Given the description of an element on the screen output the (x, y) to click on. 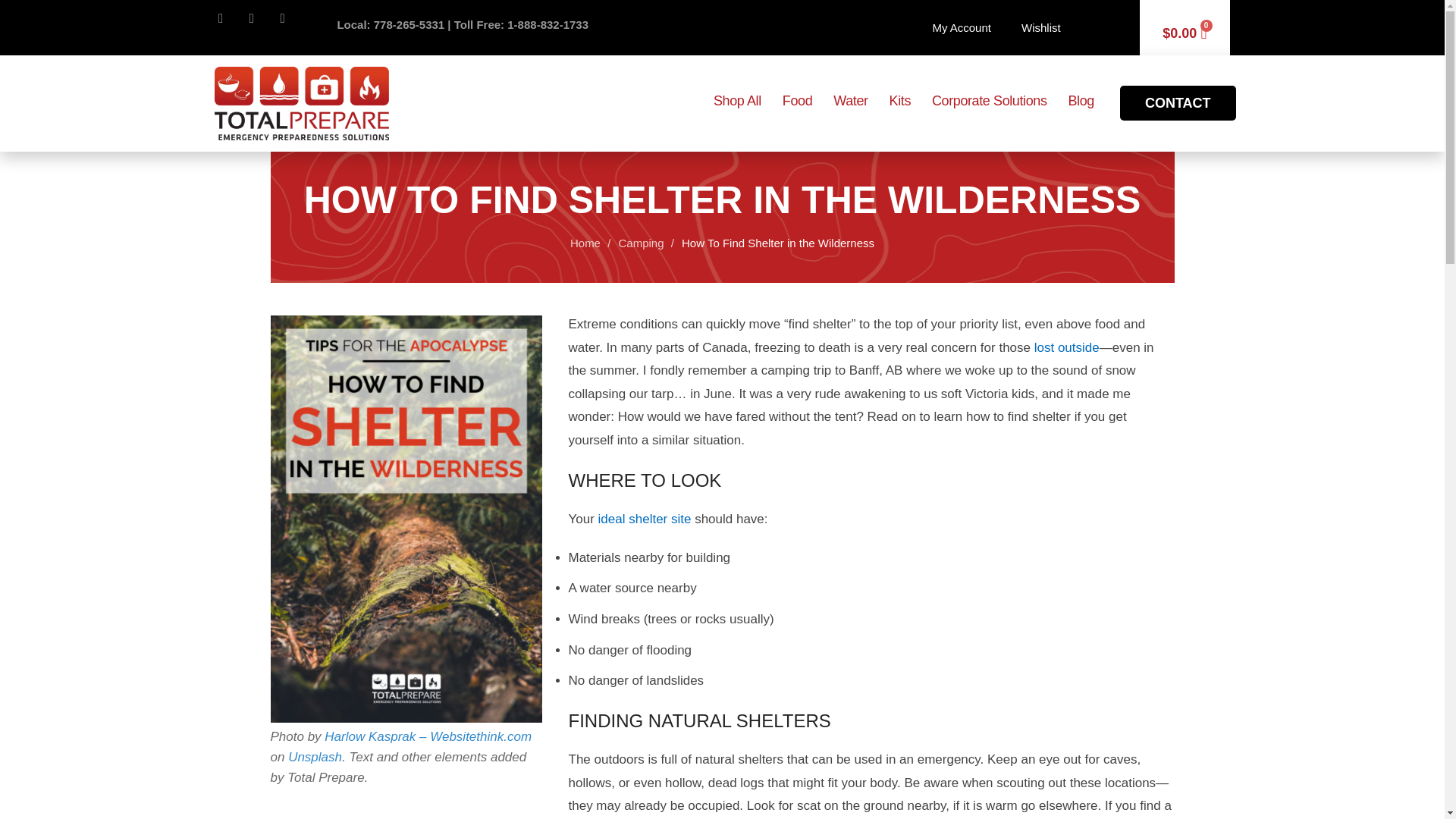
Wishlist (1040, 27)
Shop All (736, 100)
My Account (961, 27)
